Given the description of an element on the screen output the (x, y) to click on. 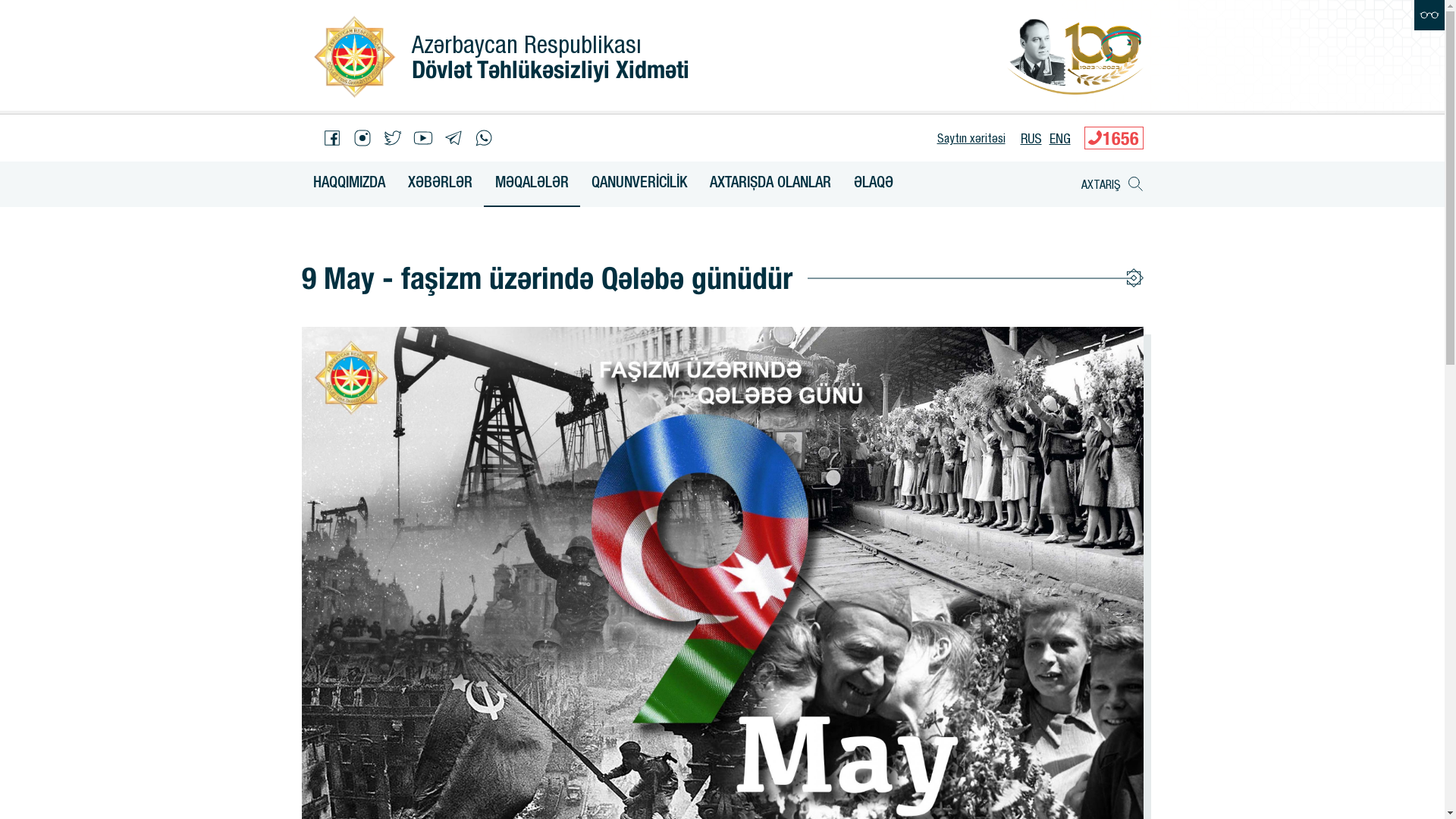
ENG Element type: text (1059, 137)
HAQQIMIZDA Element type: text (348, 184)
1656 Element type: text (1113, 137)
RUS Element type: text (1030, 137)
